Given the description of an element on the screen output the (x, y) to click on. 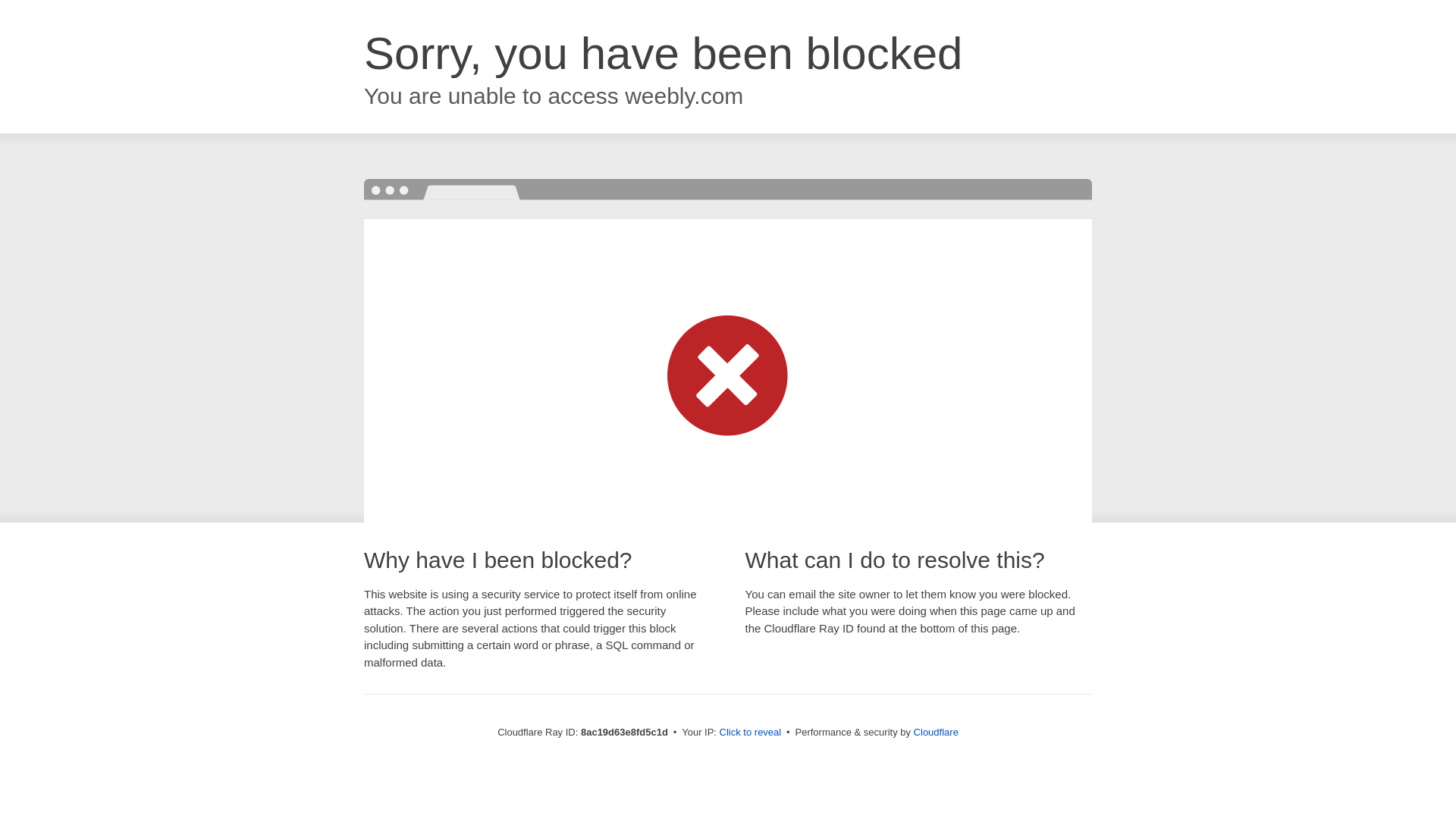
Cloudflare (936, 731)
Click to reveal (750, 732)
